Given the description of an element on the screen output the (x, y) to click on. 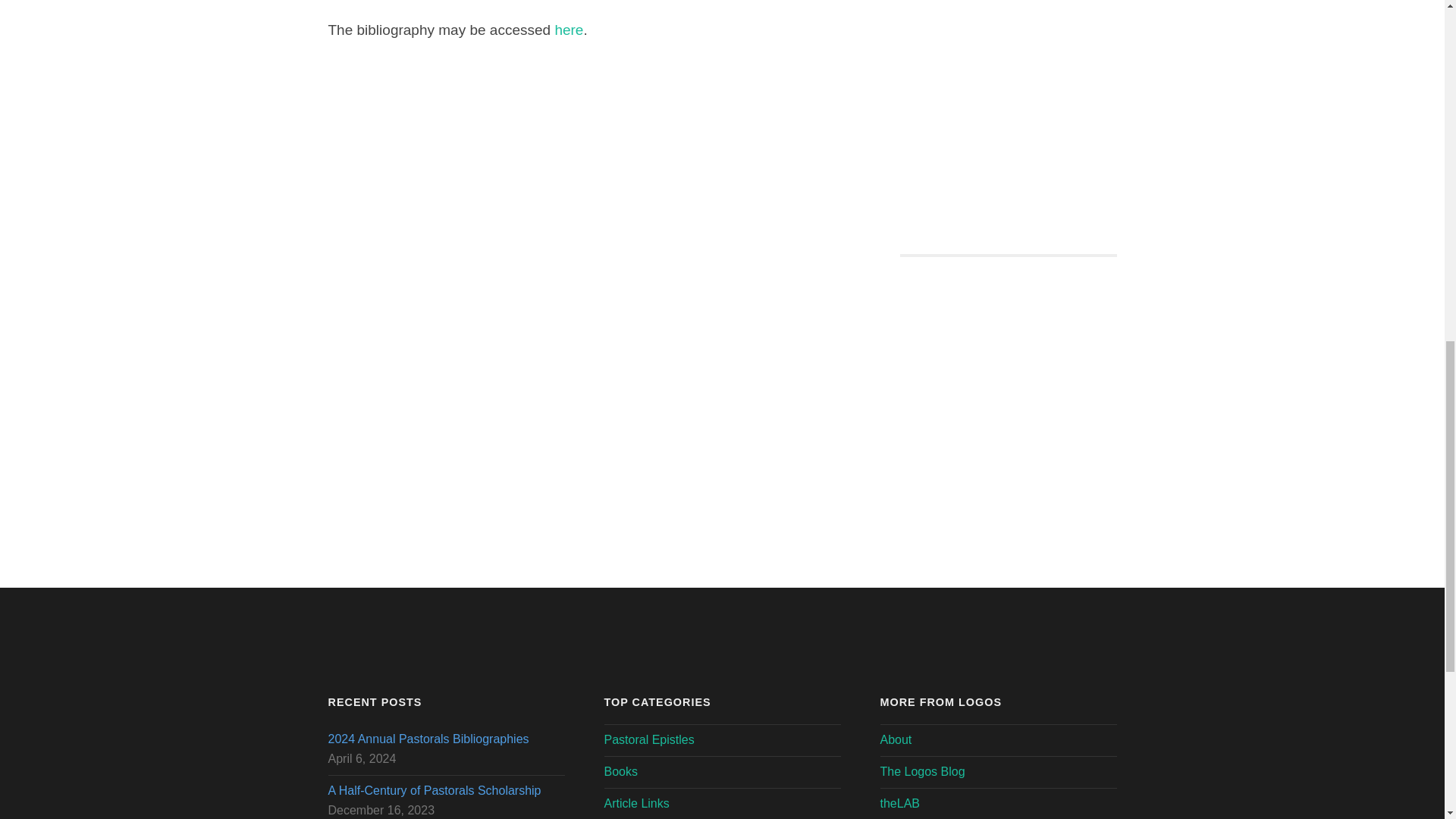
Books (620, 771)
here (568, 29)
About (895, 739)
Article Links (636, 802)
Pastoral Epistles (649, 739)
2024 Annual Pastorals Bibliographies (445, 739)
The Logos Blog (921, 771)
A Half-Century of Pastorals Scholarship (445, 790)
theLAB (898, 802)
